Given the description of an element on the screen output the (x, y) to click on. 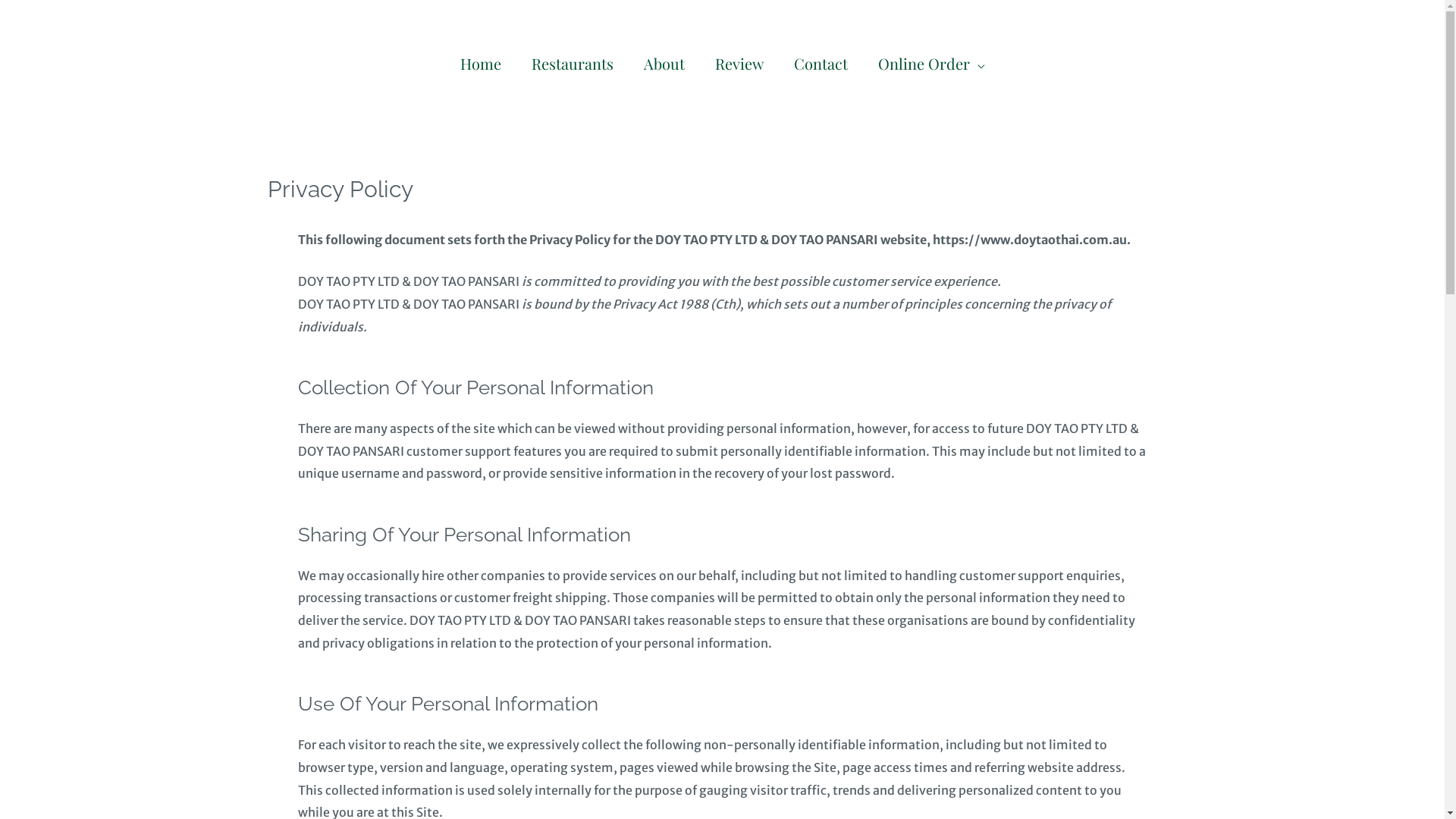
About Element type: text (663, 62)
Home Element type: text (479, 62)
Online Order Element type: text (931, 62)
Restaurants Element type: text (571, 62)
Contact Element type: text (820, 62)
Review Element type: text (738, 62)
